Given the description of an element on the screen output the (x, y) to click on. 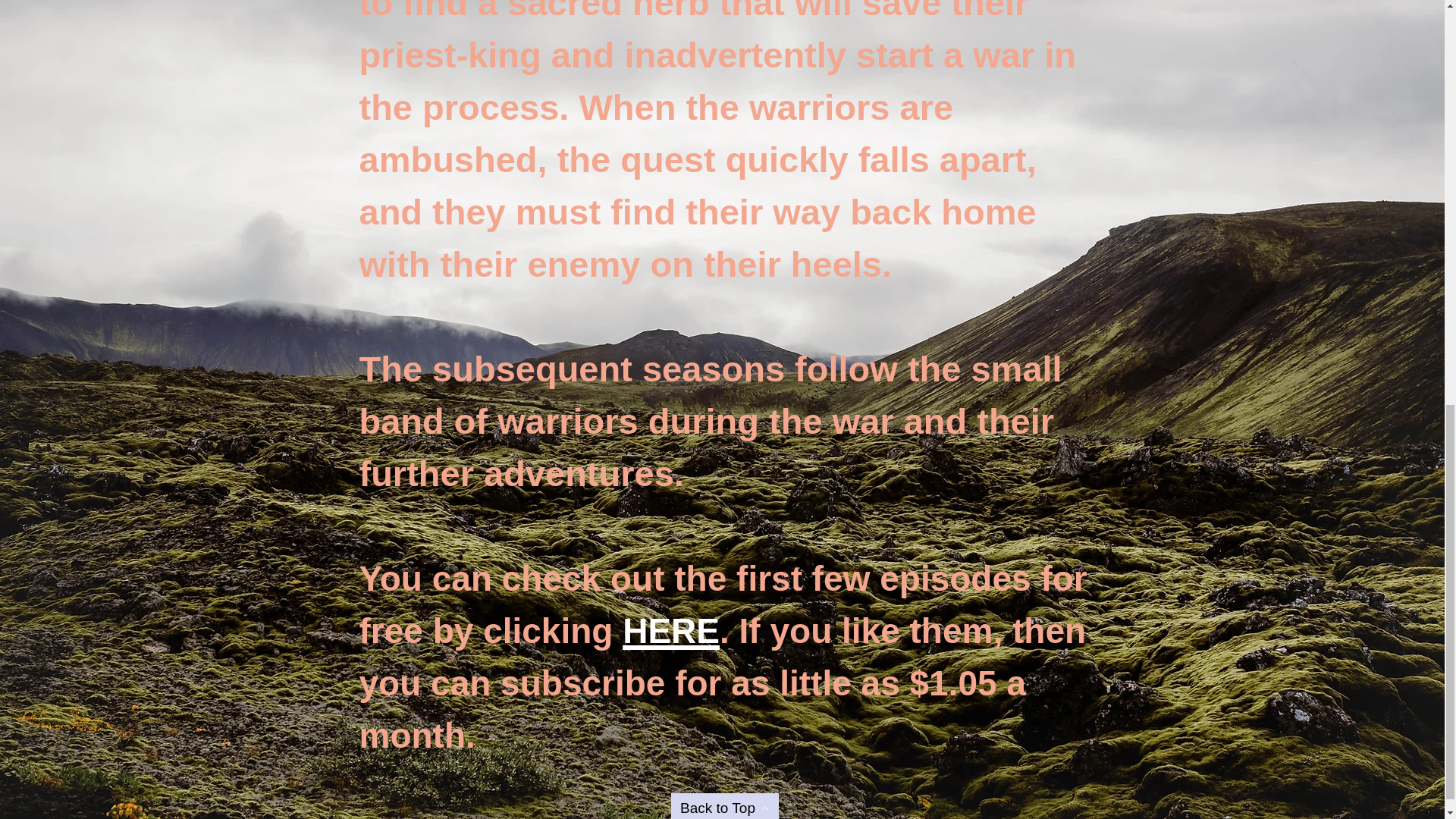
HERE (671, 626)
Back to Top (723, 806)
